Given the description of an element on the screen output the (x, y) to click on. 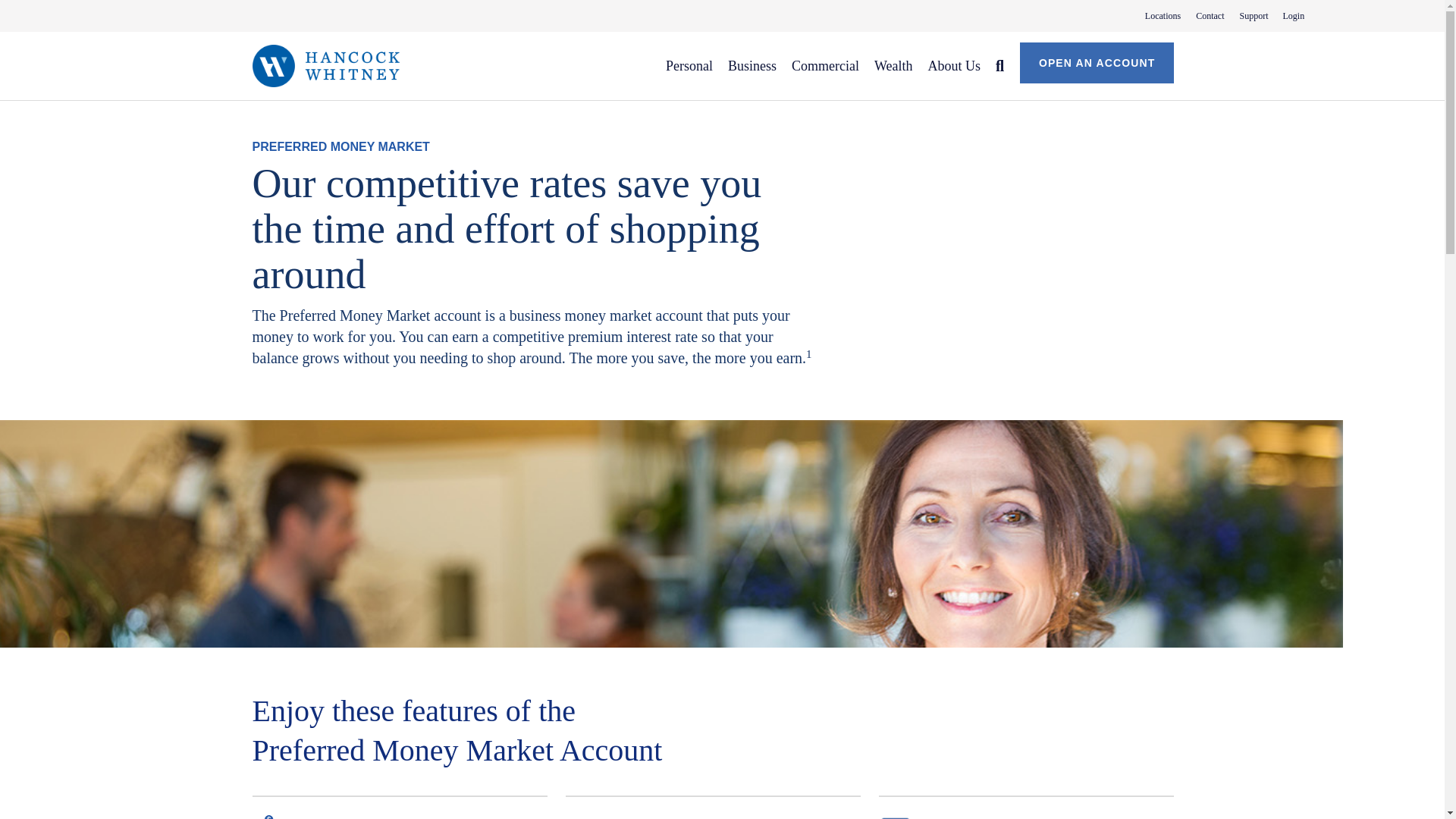
Locations (1154, 15)
Hancock Whitney (324, 65)
Personal (689, 65)
Contact (1257, 11)
Support (1202, 15)
Business (1246, 15)
